Given the description of an element on the screen output the (x, y) to click on. 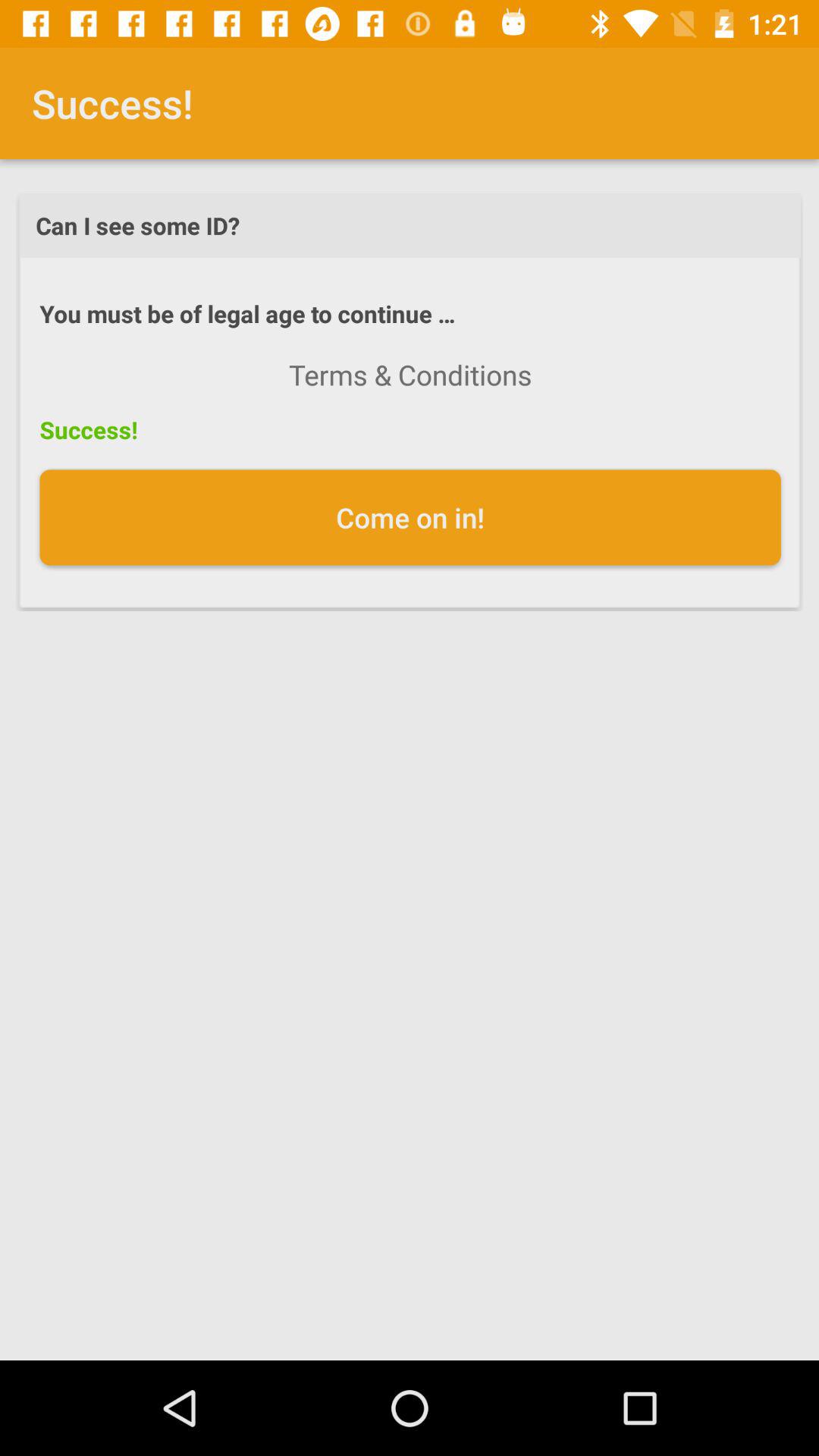
tap icon below the success! icon (409, 517)
